Given the description of an element on the screen output the (x, y) to click on. 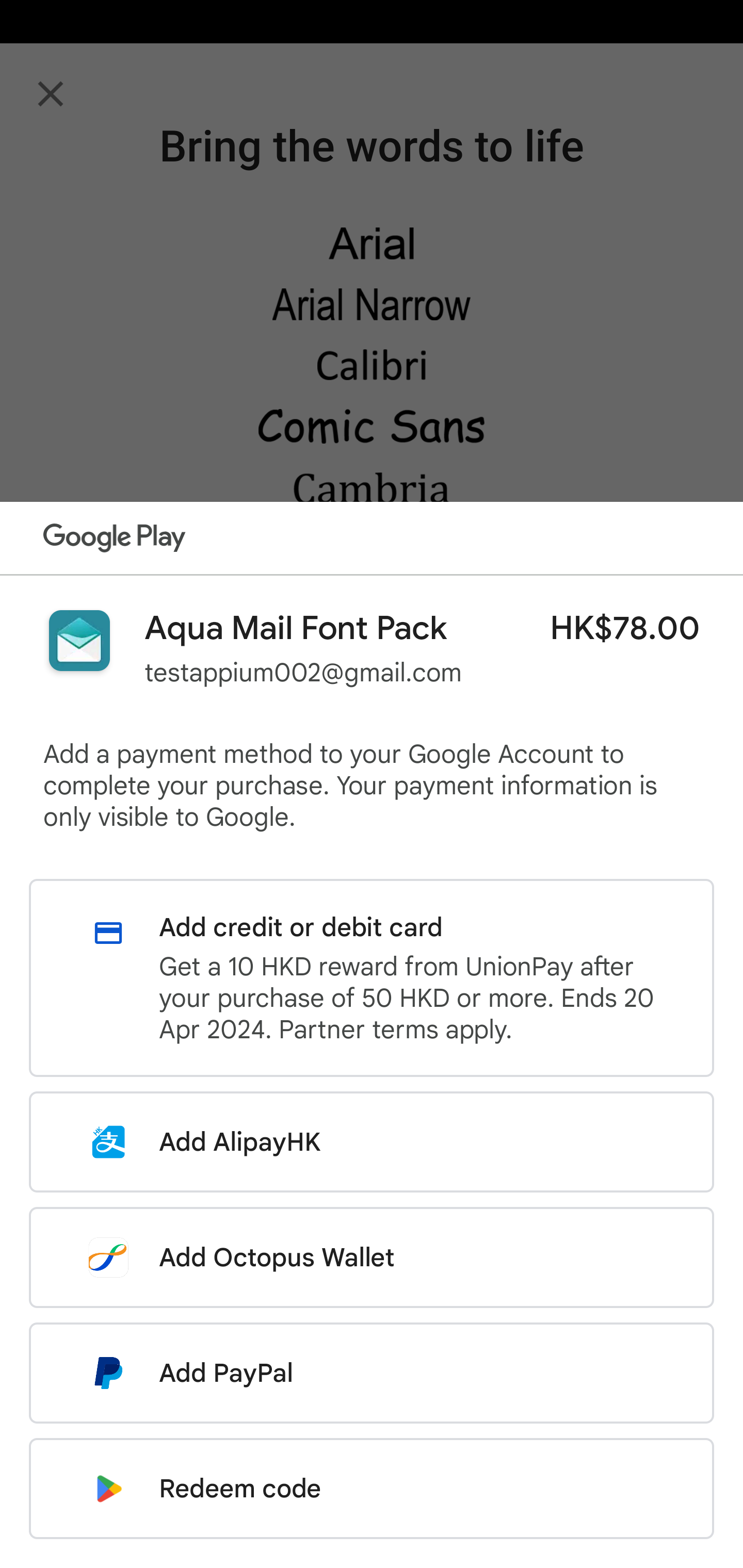
Add AlipayHK (371, 1142)
Add Octopus Wallet (371, 1257)
Add PayPal (371, 1372)
Redeem code (371, 1488)
